Given the description of an element on the screen output the (x, y) to click on. 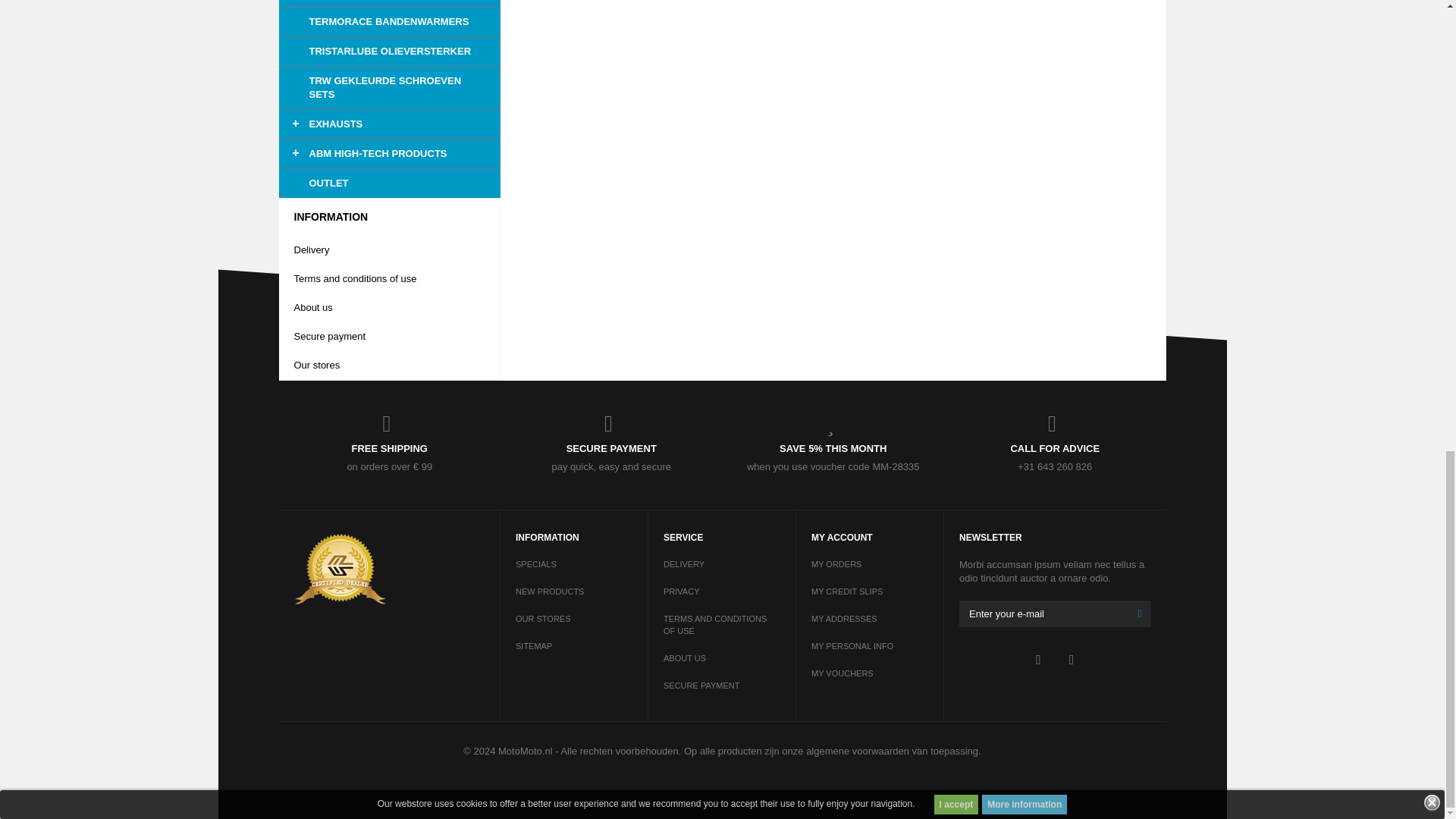
Enter your e-mail (1055, 613)
